Given the description of an element on the screen output the (x, y) to click on. 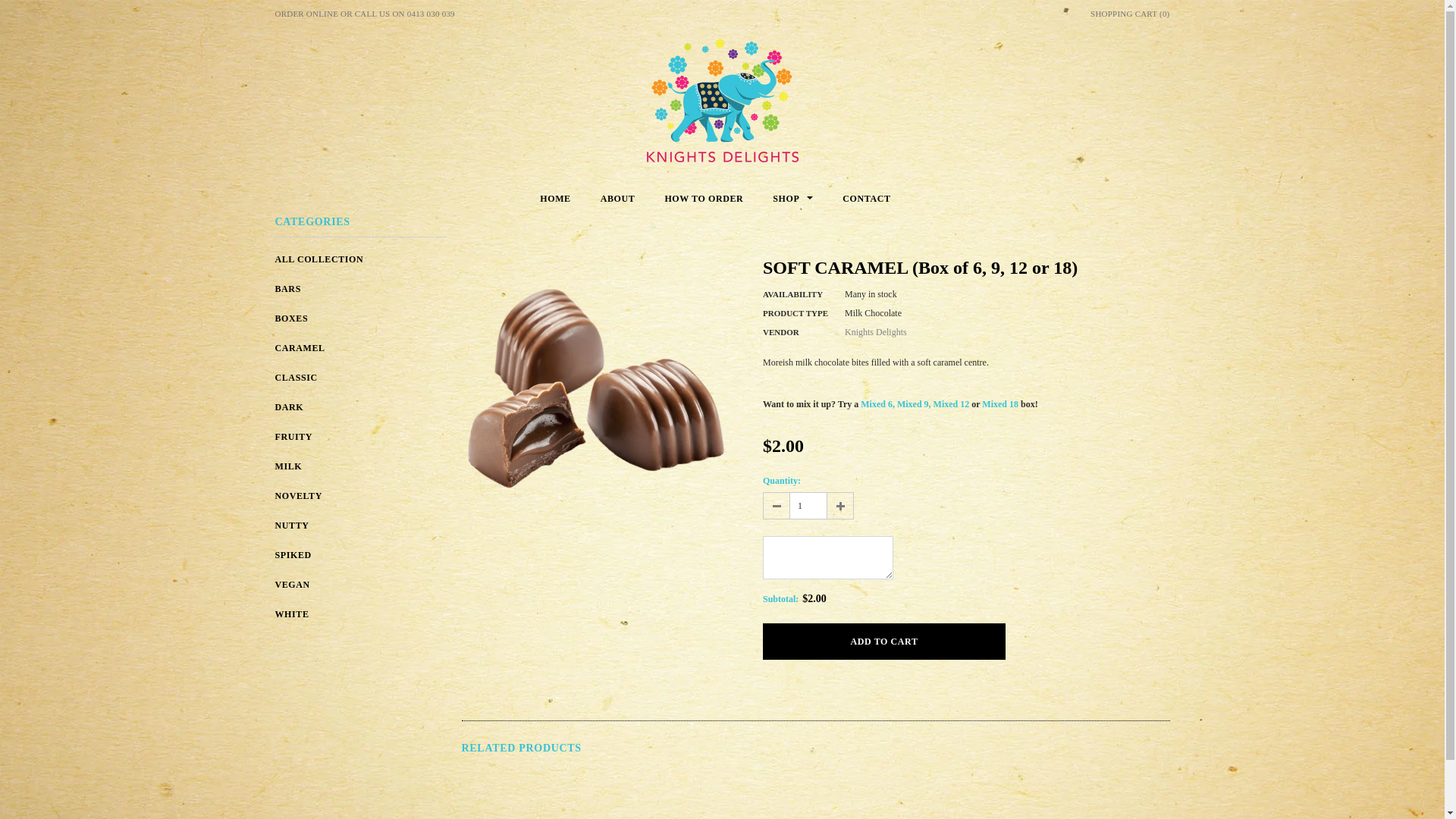
CARAMEL Element type: text (299, 347)
HOME Element type: text (554, 198)
ABOUT Element type: text (617, 198)
ALL COLLECTION Element type: text (318, 258)
NUTTY Element type: text (291, 525)
CLASSIC Element type: text (295, 376)
HOW TO ORDER Element type: text (703, 198)
Mixed 18 Element type: text (1000, 403)
Mixed 9, Element type: text (914, 403)
DARK Element type: text (288, 406)
BARS Element type: text (287, 288)
MILK Element type: text (287, 466)
SHOP Element type: text (792, 198)
BOXES Element type: text (290, 317)
SPIKED Element type: text (292, 554)
VEGAN Element type: text (291, 584)
WHITE Element type: text (291, 613)
SHOPPING CART 0 Element type: text (1129, 13)
Mixed 6, Element type: text (877, 403)
FRUITY Element type: text (293, 435)
NOVELTY Element type: text (297, 494)
Mixed 12 Element type: text (951, 403)
Add to Cart Element type: text (883, 641)
CONTACT Element type: text (866, 198)
